Given the description of an element on the screen output the (x, y) to click on. 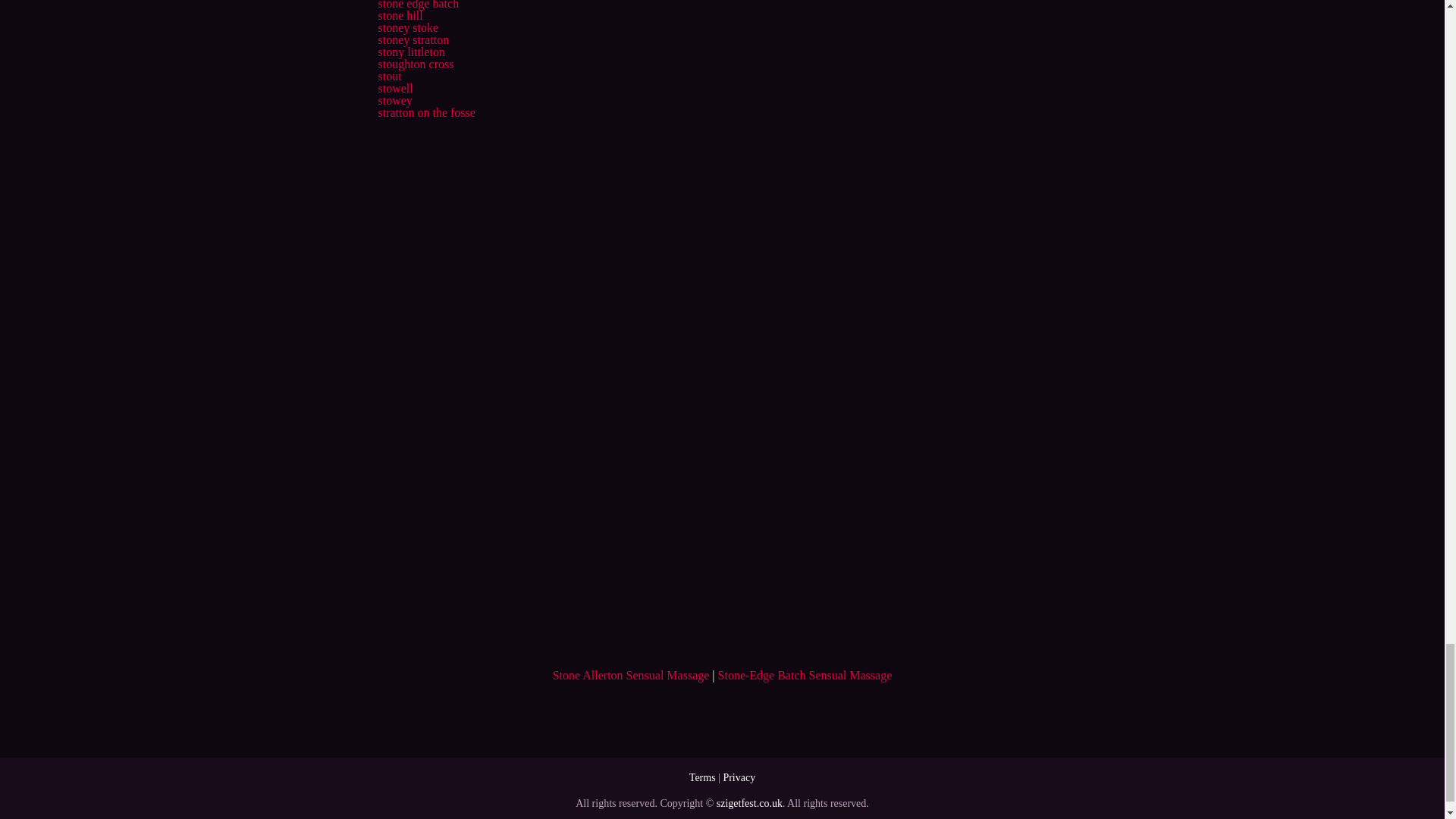
Terms (702, 777)
Stone-Edge Batch Sensual Massage (804, 675)
Privacy (738, 777)
stowell (394, 88)
stout (389, 75)
stone edge batch (417, 4)
Privacy (738, 777)
Terms (702, 777)
stowey (394, 100)
stoney stoke (407, 27)
